Given the description of an element on the screen output the (x, y) to click on. 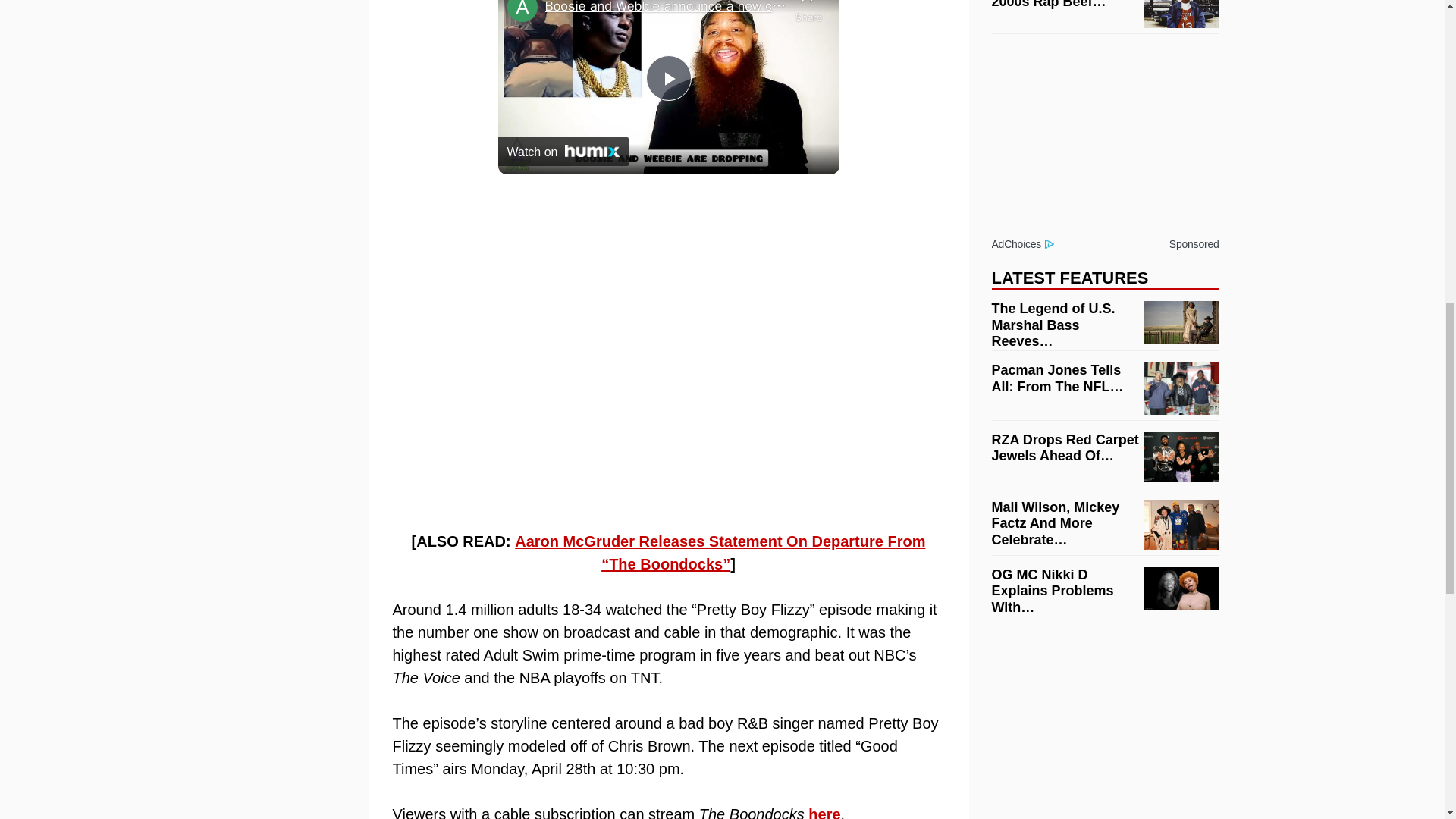
Play Video (668, 77)
